Given the description of an element on the screen output the (x, y) to click on. 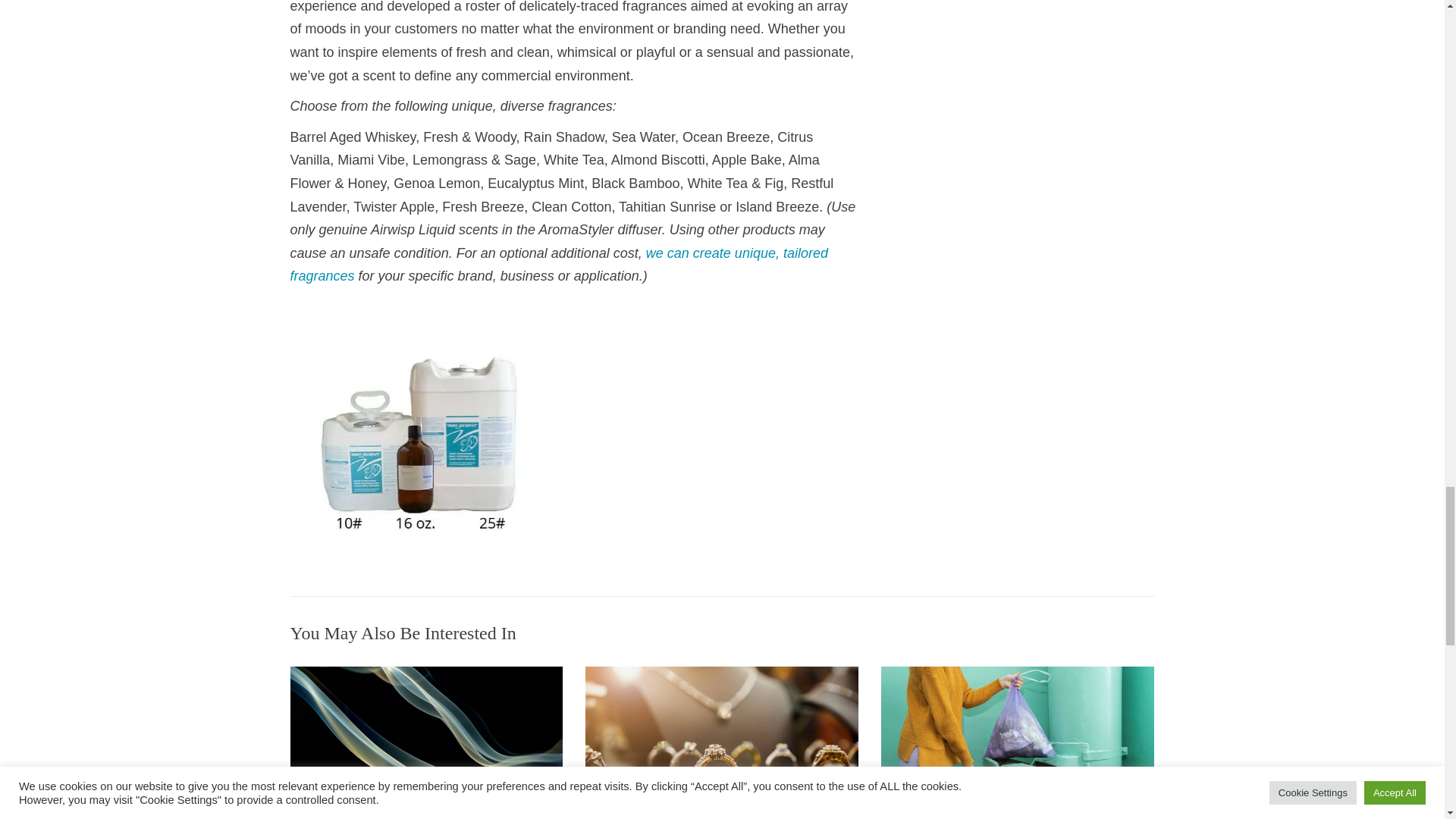
Bling To Zing: How Fragrance Enhances Jewelry Store Sales (722, 742)
Why Regular Trash Chute Cleaning Is A Must For Your Property (1017, 742)
